Given the description of an element on the screen output the (x, y) to click on. 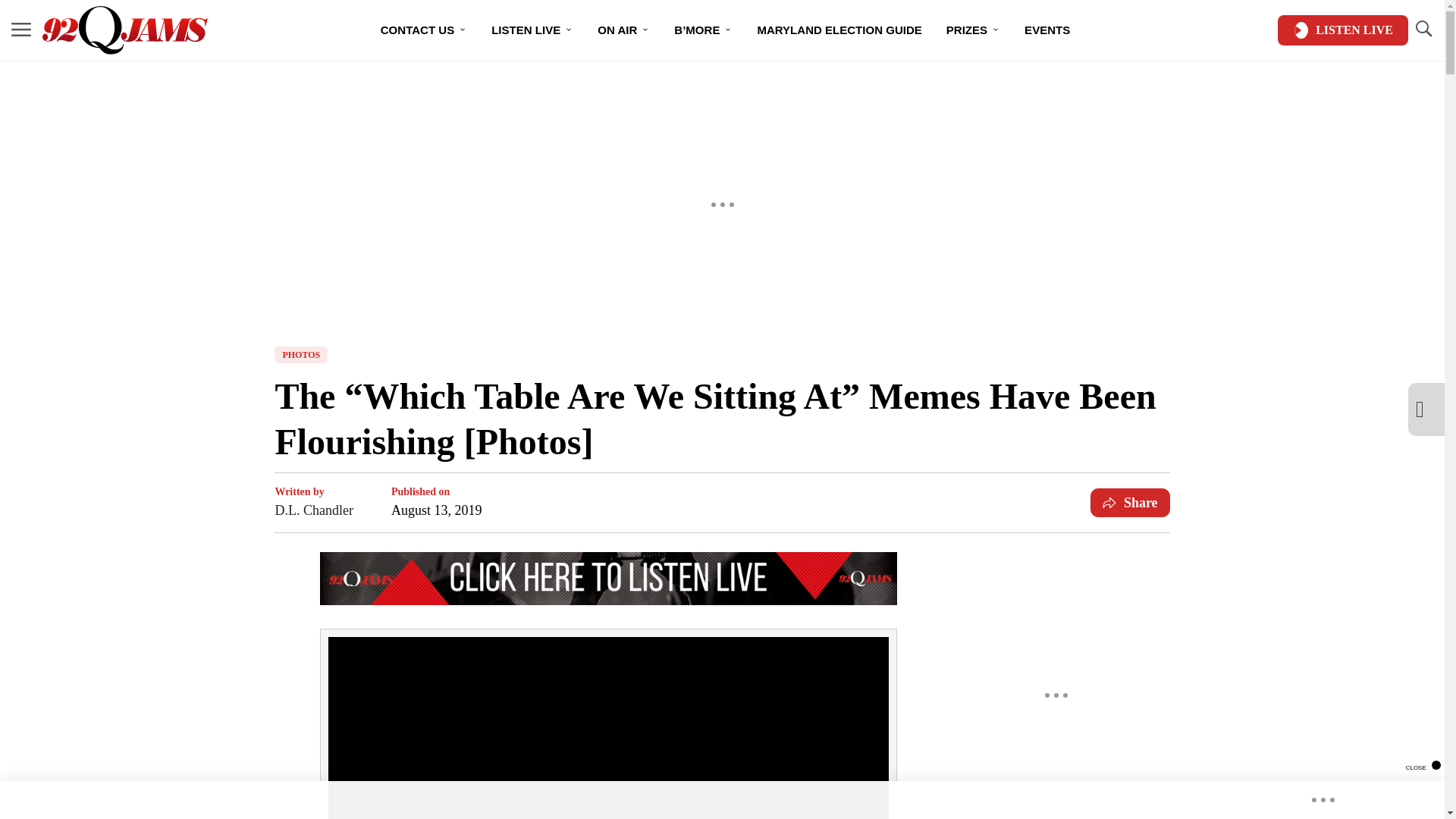
ON AIR (623, 30)
PRIZES (972, 30)
LISTEN LIVE (1342, 30)
STAY CONNECTED (725, 82)
MARYLAND ELECTION GUIDE (838, 30)
MENU (20, 29)
CONTACT US (423, 30)
LISTEN LIVE (532, 30)
TOGGLE SEARCH (1422, 28)
MENU (20, 30)
